Given the description of an element on the screen output the (x, y) to click on. 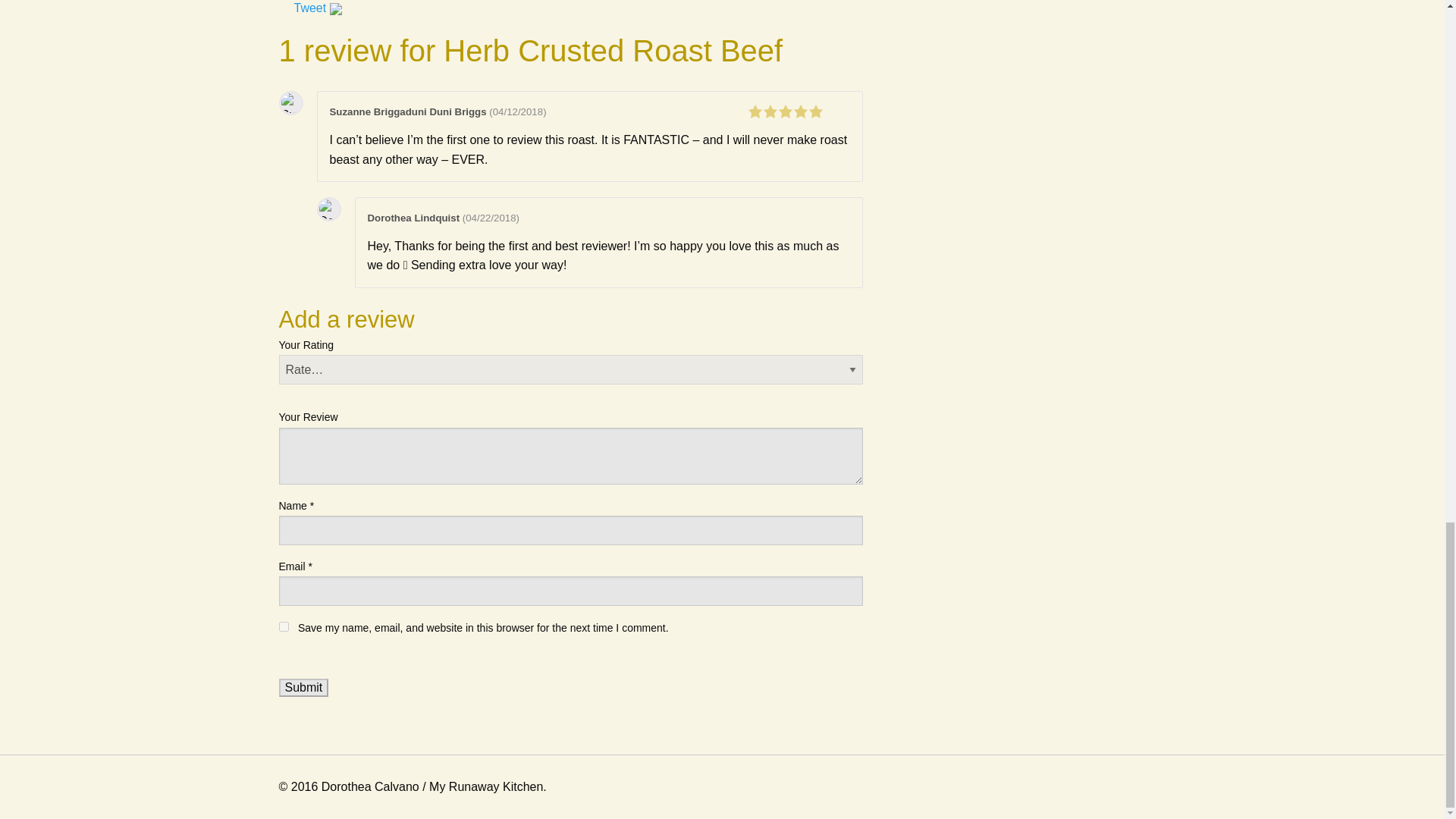
Submit (304, 687)
Submit (304, 687)
yes (283, 626)
Rated 5 out of 5 (798, 110)
Tweet (310, 7)
